Given the description of an element on the screen output the (x, y) to click on. 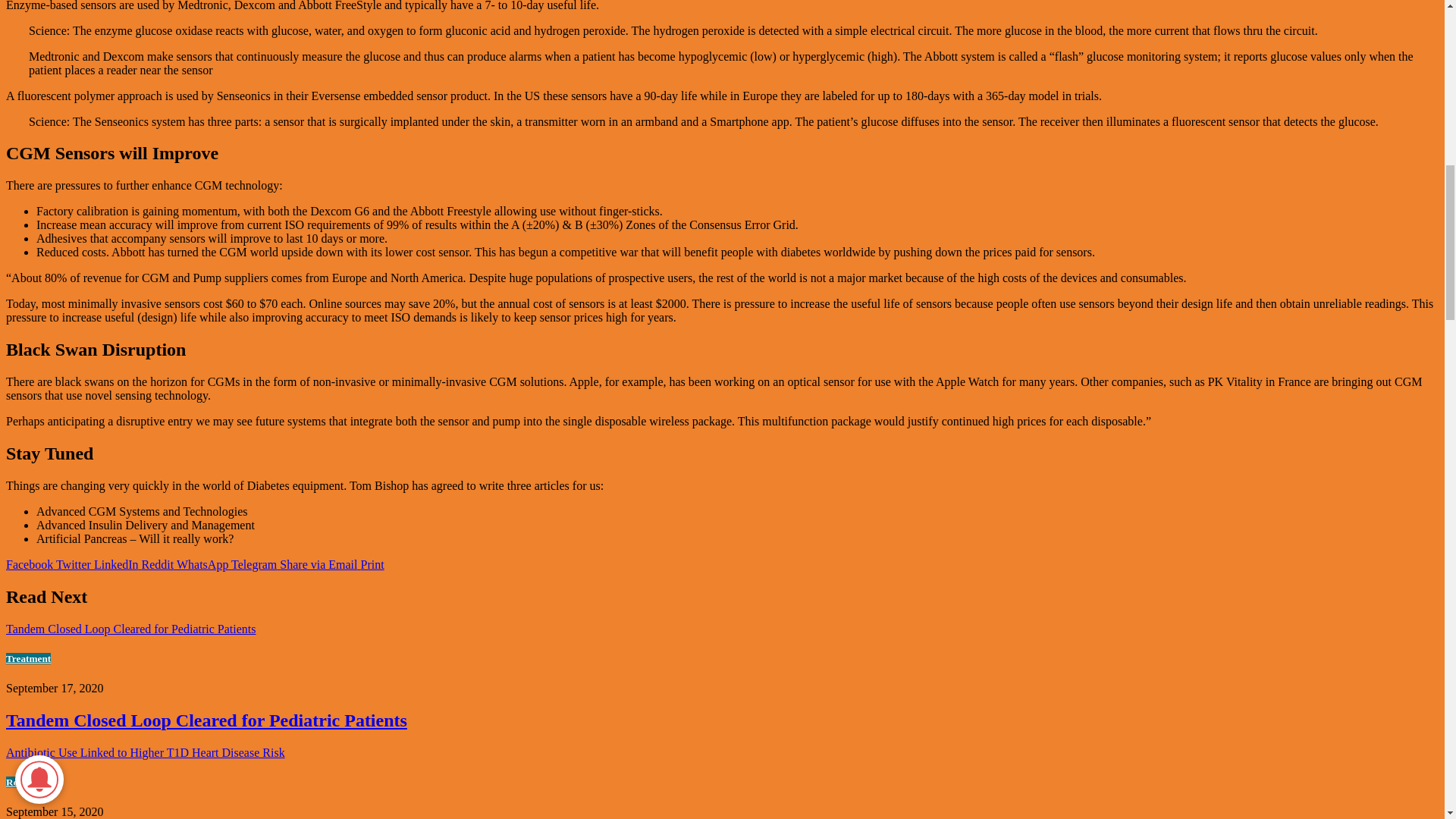
Print (370, 563)
LinkedIn (114, 563)
Twitter (71, 563)
Share via Email (316, 563)
Reddit (156, 563)
Antibiotic Use Linked to Higher T1D Heart Disease Risk (145, 752)
Facebook (28, 563)
Tandem Closed Loop Cleared for Pediatric Patients (206, 720)
Tandem Closed Loop Cleared for Pediatric Patients (206, 720)
Research (25, 781)
Telegram (252, 563)
Tandem Closed Loop Cleared for Pediatric Patients (130, 628)
Treatment (27, 658)
WhatsApp (200, 563)
